Given the description of an element on the screen output the (x, y) to click on. 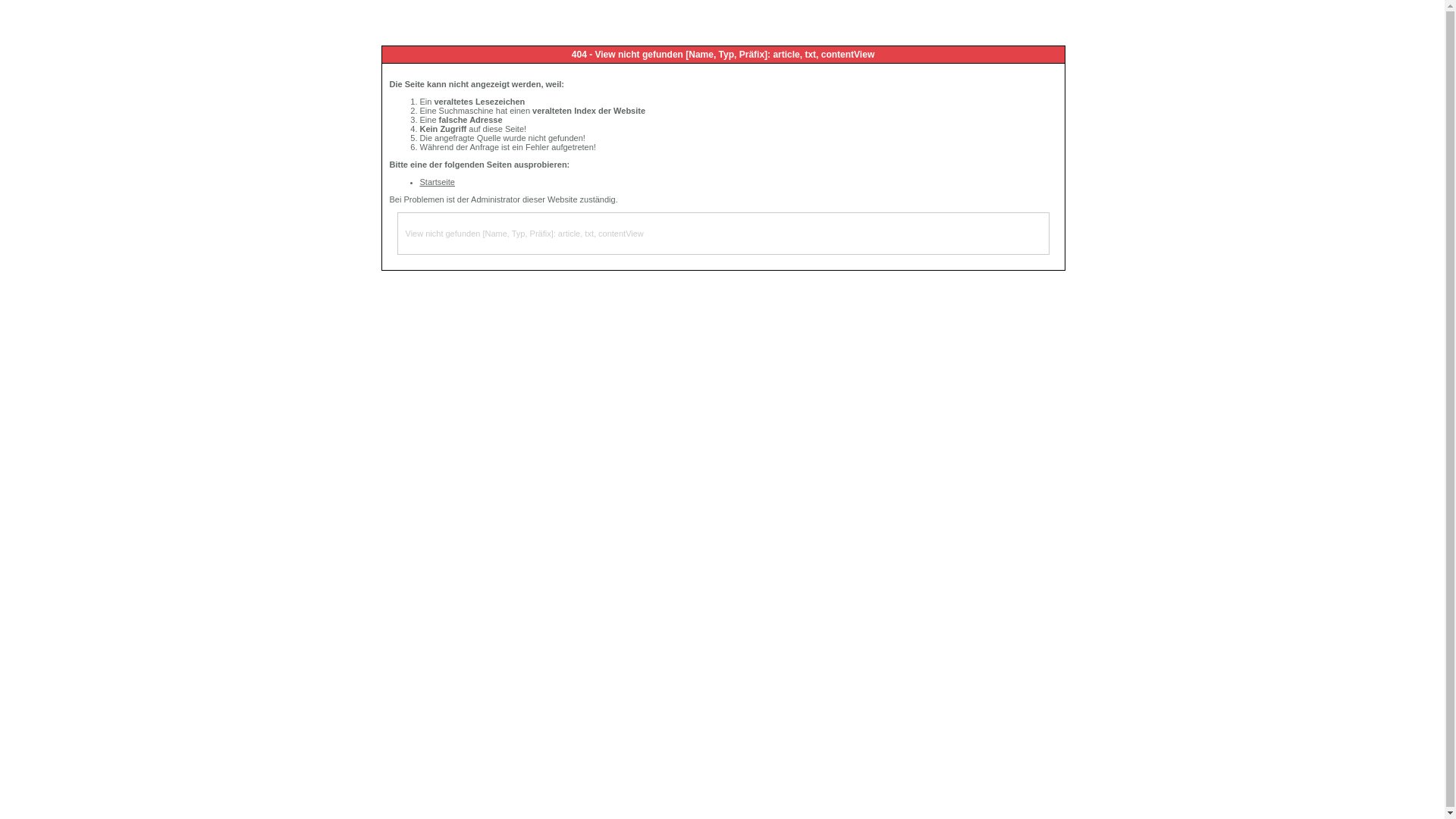
Startseite Element type: text (437, 181)
